Given the description of an element on the screen output the (x, y) to click on. 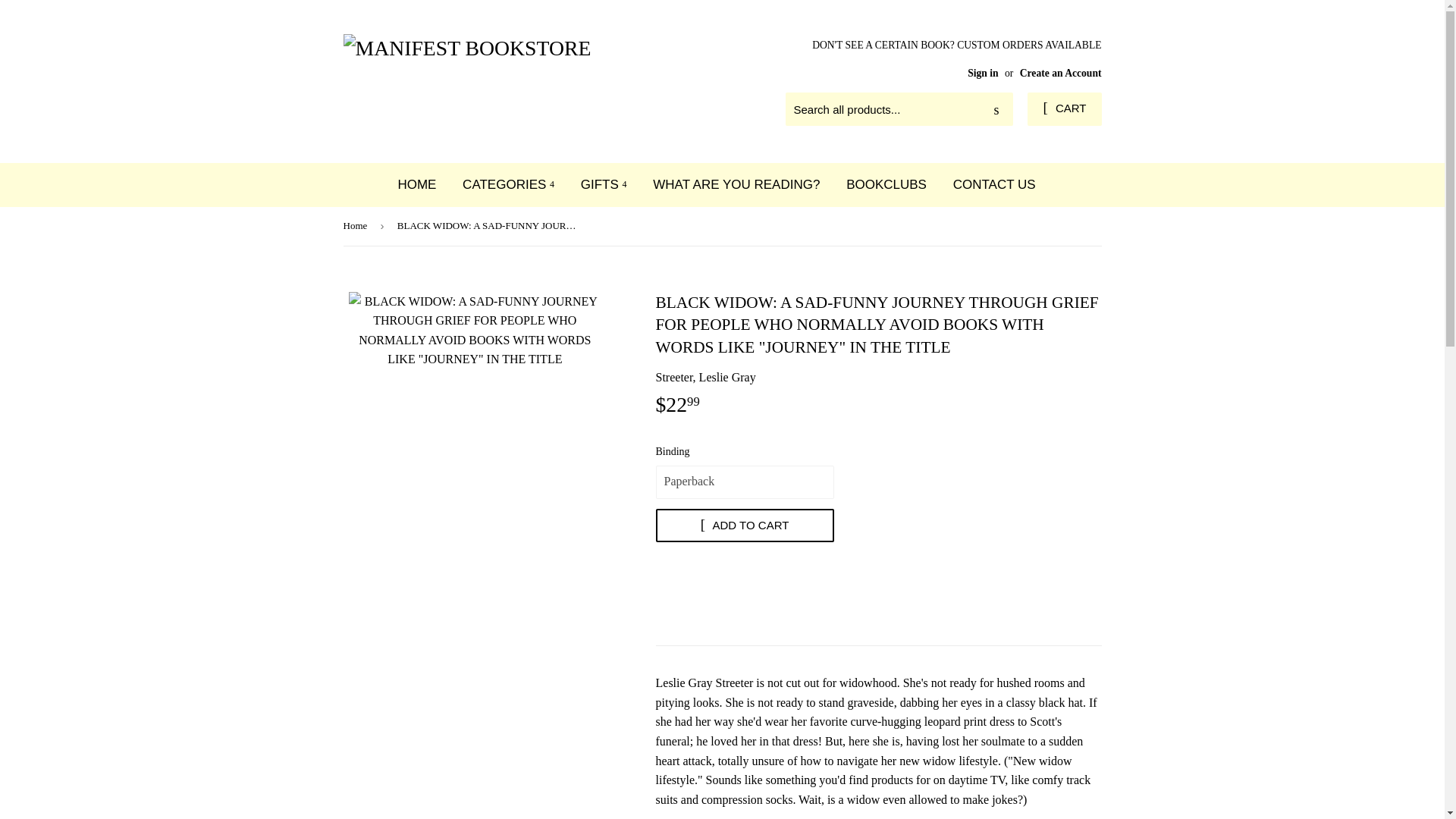
Create an Account (1061, 72)
GIFTS (604, 184)
HOME (415, 184)
WHAT ARE YOU READING? (736, 184)
CATEGORIES (508, 184)
Sign in (982, 72)
CONTACT US (994, 184)
Search (995, 110)
BOOKCLUBS (885, 184)
CART (1063, 109)
